Given the description of an element on the screen output the (x, y) to click on. 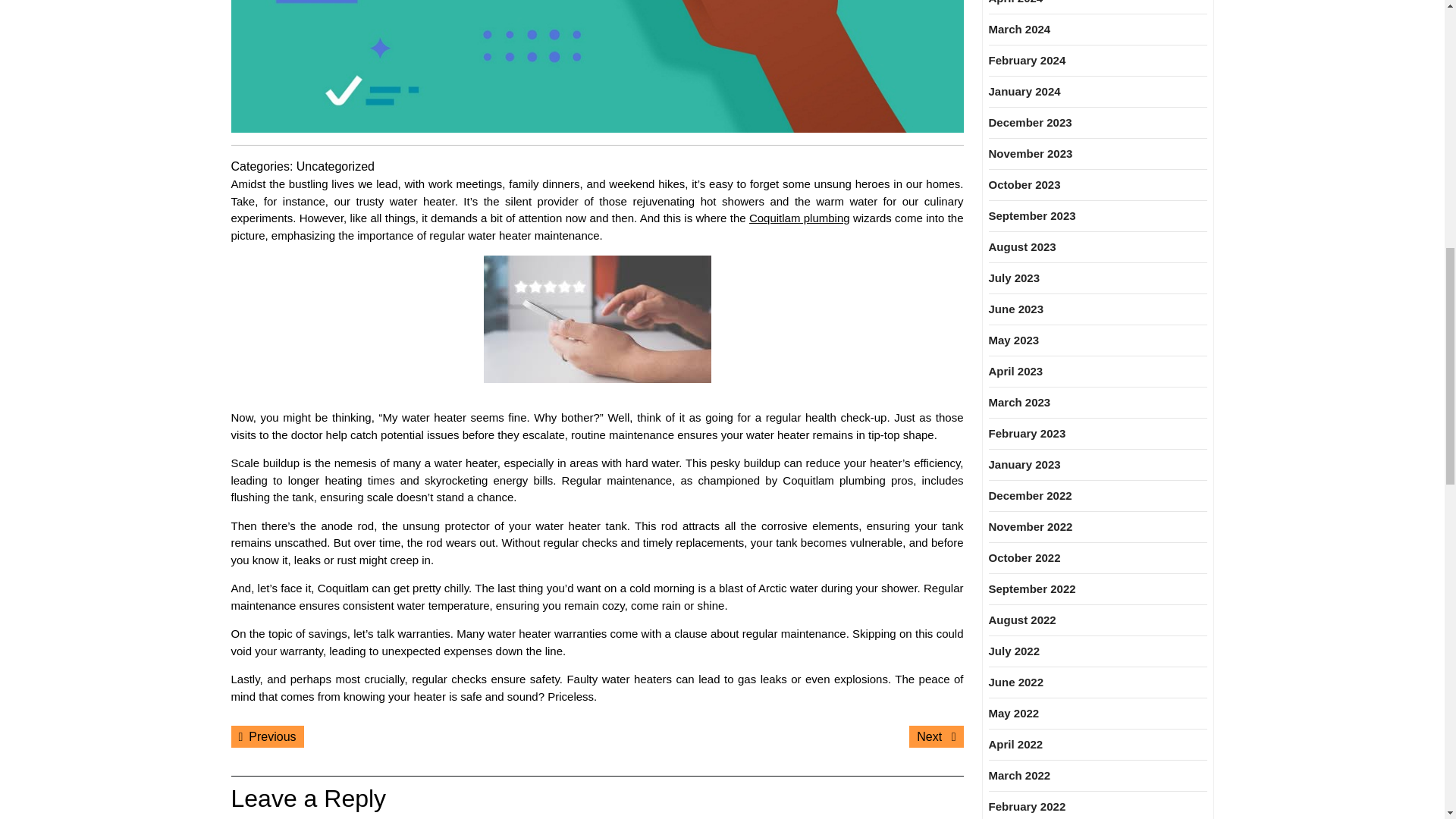
Coquitlam plumbing (799, 217)
February 2024 (1026, 60)
January 2024 (935, 736)
April 2024 (266, 736)
March 2024 (1024, 91)
